Given the description of an element on the screen output the (x, y) to click on. 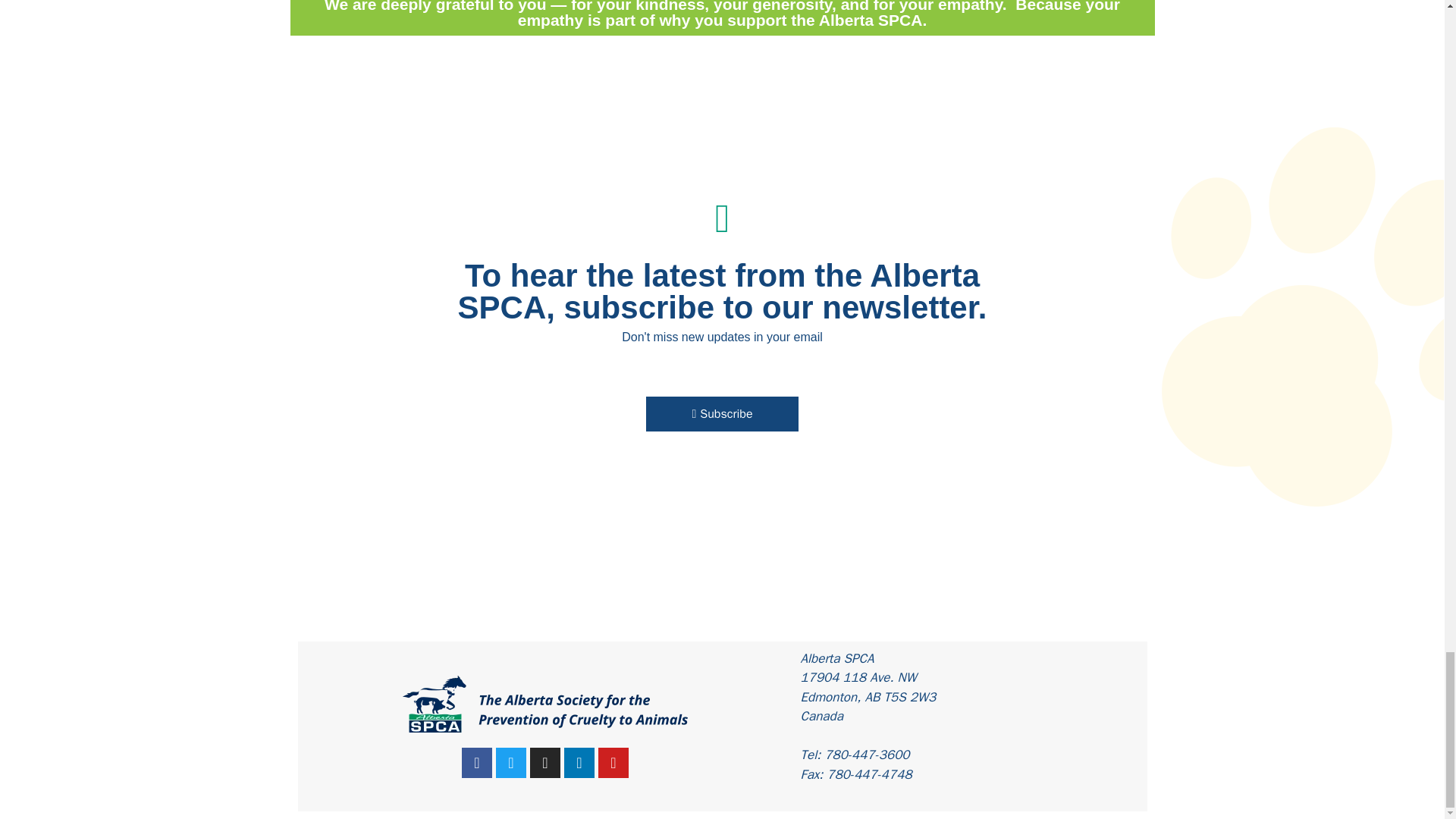
Subscribe (721, 413)
